Given the description of an element on the screen output the (x, y) to click on. 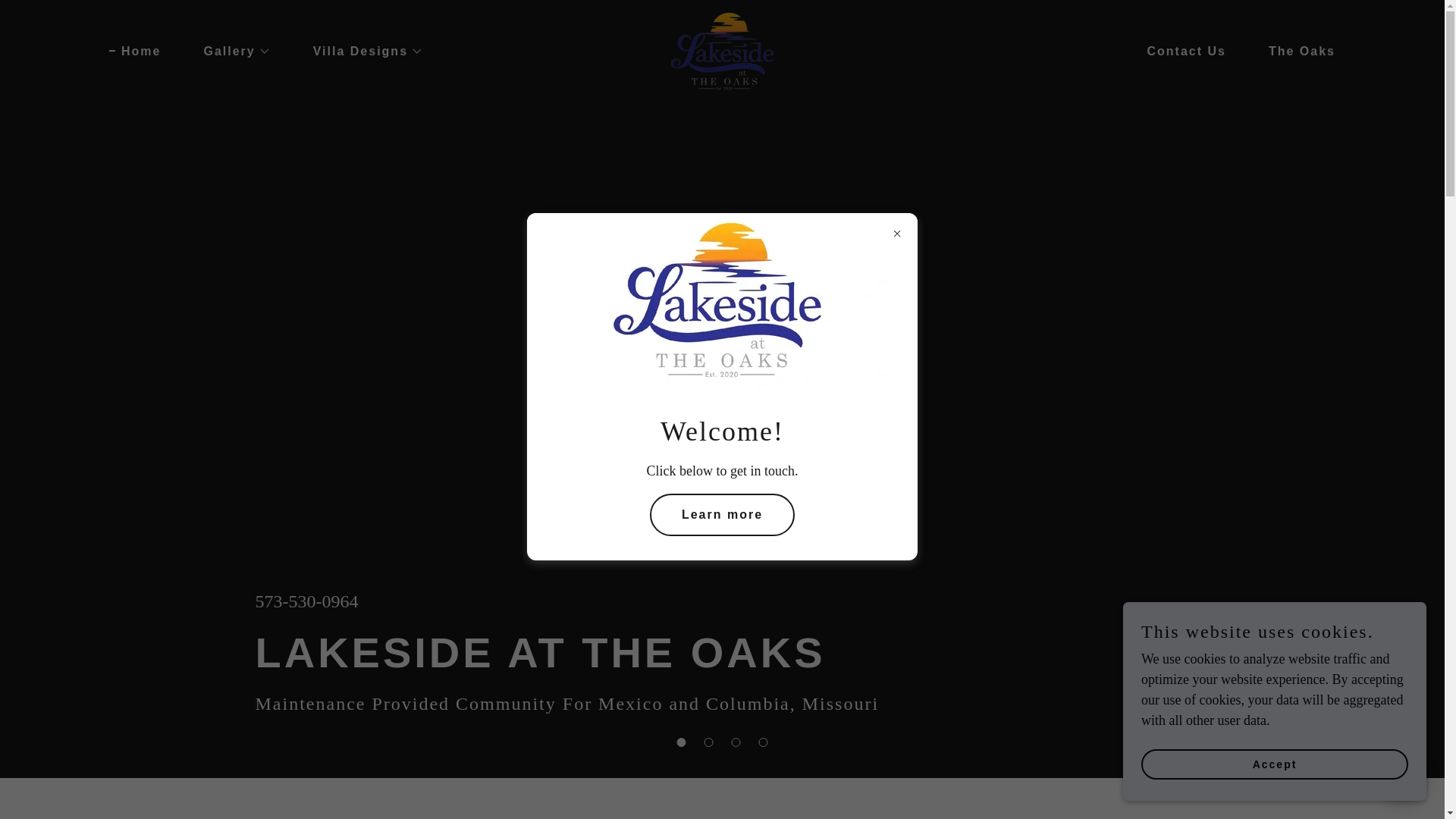
Home (134, 51)
Contact Us (1179, 51)
The Oaks (1295, 51)
Lakeside at the Oaks (722, 49)
Gallery (229, 51)
Villa Designs (362, 51)
